Given the description of an element on the screen output the (x, y) to click on. 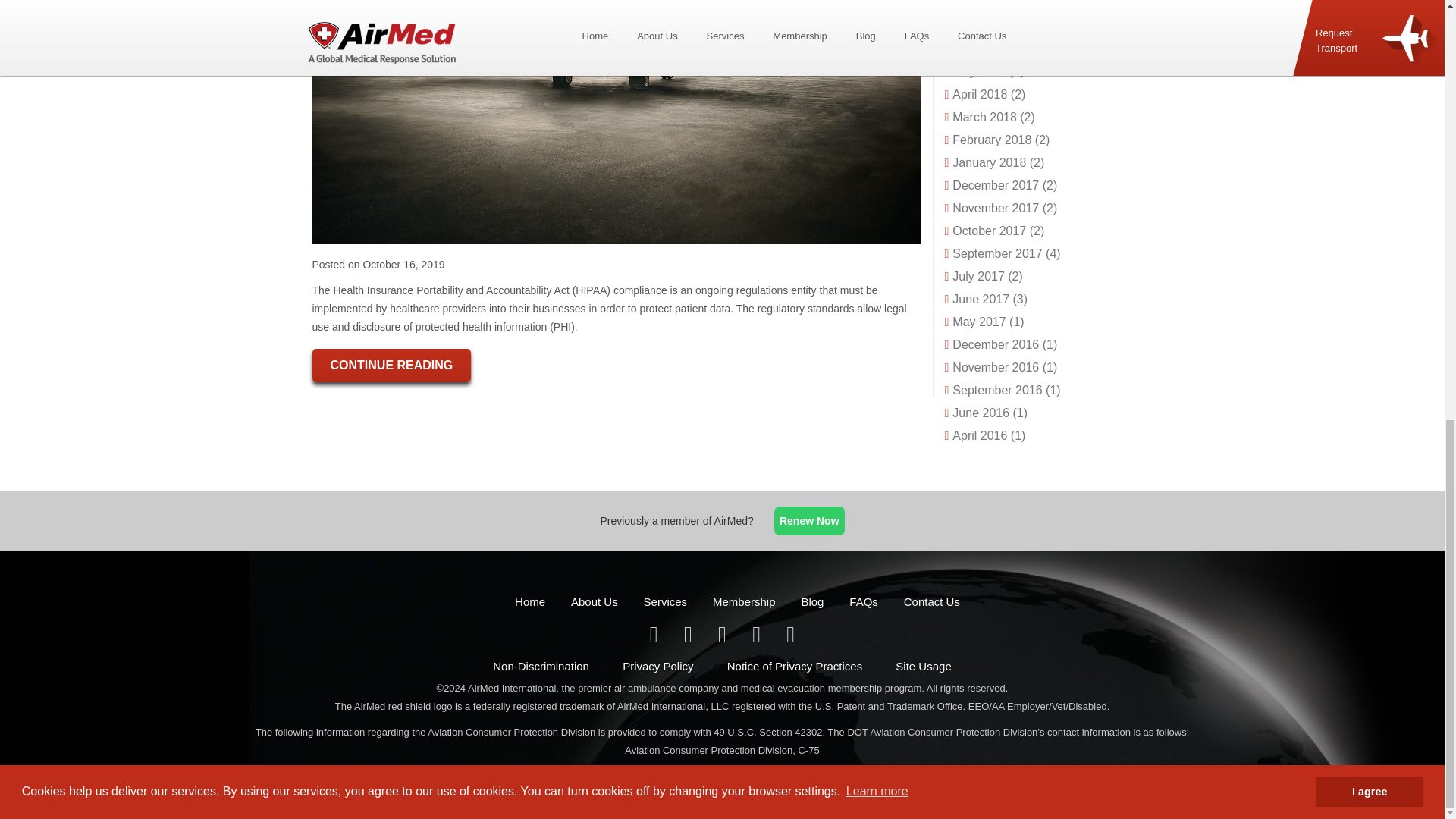
Like us on Facebook (655, 637)
Connect with us on LinkedIn (723, 637)
Watch our channel on YouTube (757, 637)
Follow us on Instagram (790, 637)
Follow us on Twitter (689, 637)
